Given the description of an element on the screen output the (x, y) to click on. 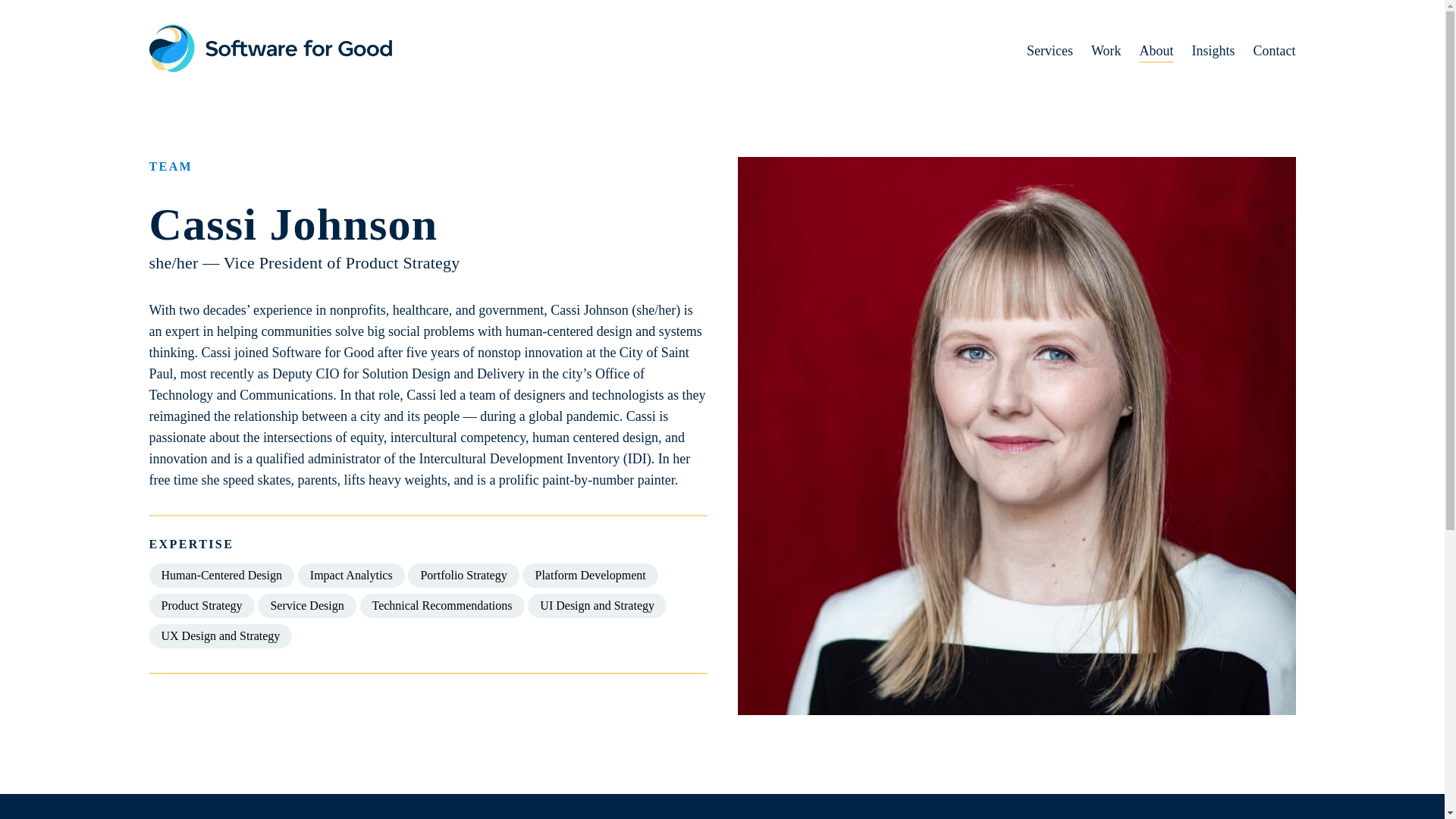
Insights (1203, 50)
TEAM (427, 166)
Contact (1264, 50)
Work (1097, 50)
About (1147, 50)
Services (1041, 50)
